Given the description of an element on the screen output the (x, y) to click on. 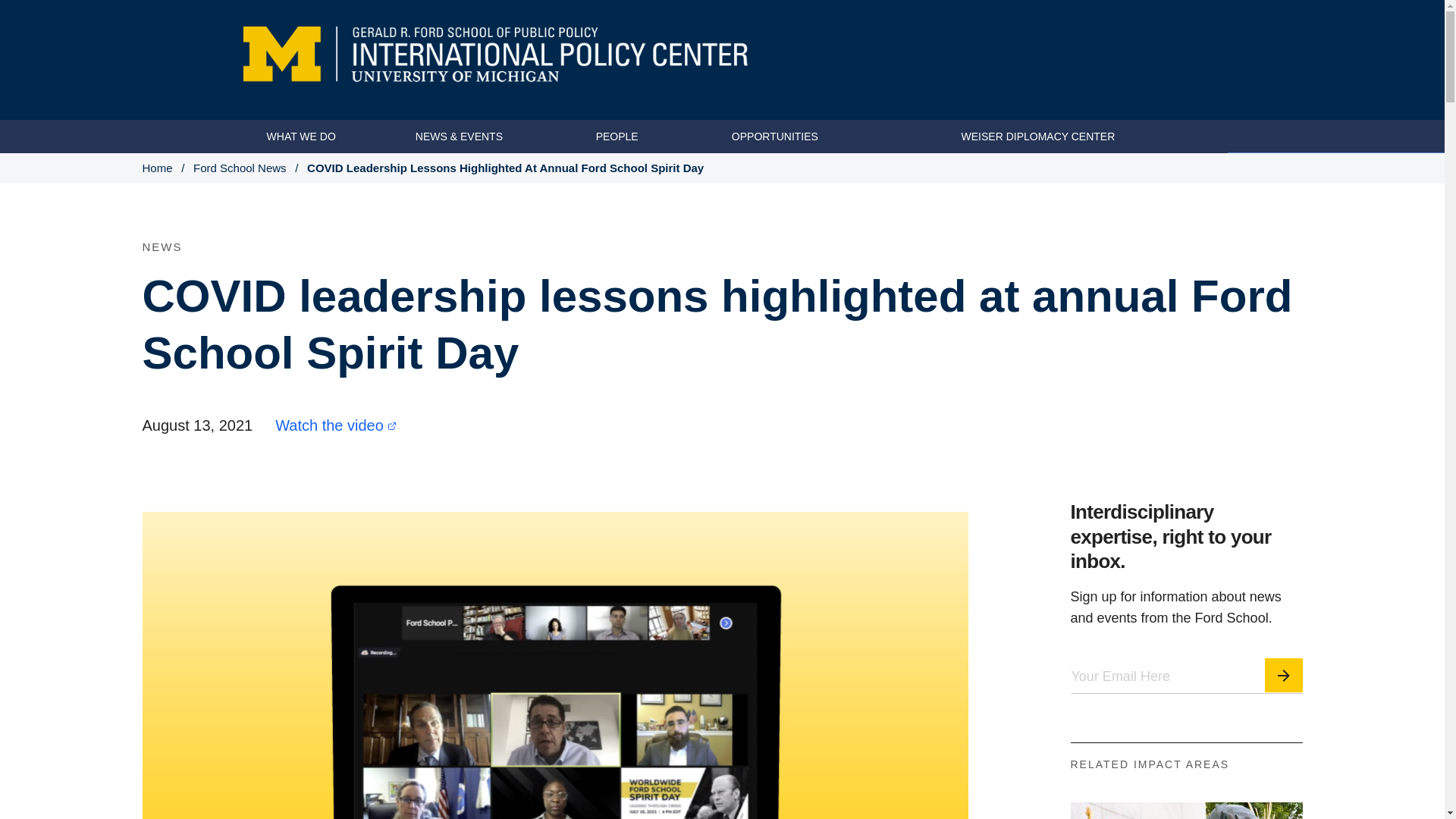
PEOPLE (617, 136)
WHAT WE DO (301, 136)
Ford School News (239, 167)
Home (157, 167)
OPPORTUNITIES (775, 136)
NEWS (162, 278)
WEISER DIPLOMACY CENTER (1037, 136)
Subscribe (1284, 675)
Watch the video (339, 455)
